Given the description of an element on the screen output the (x, y) to click on. 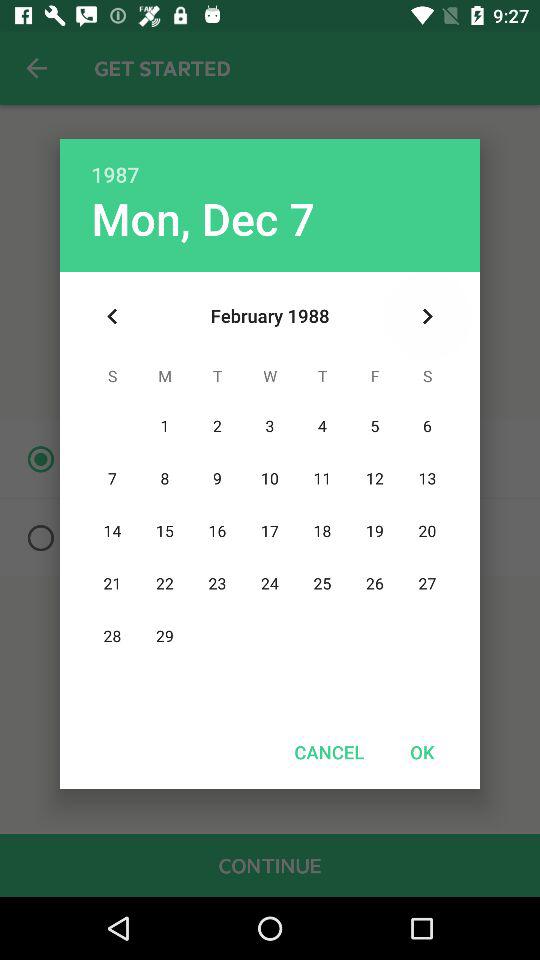
scroll to mon, dec 7 icon (202, 218)
